Given the description of an element on the screen output the (x, y) to click on. 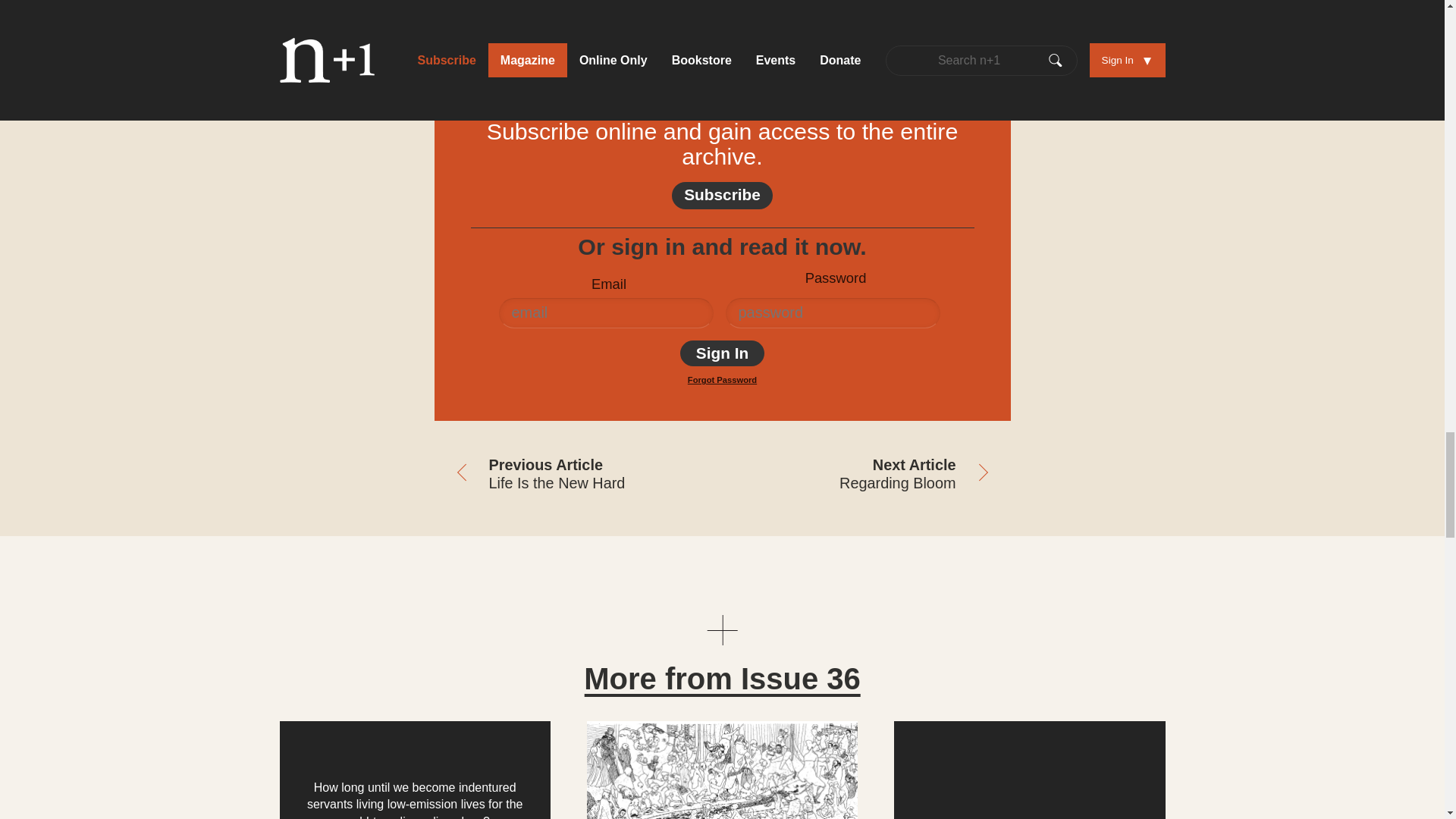
Sign In (721, 353)
Life Is the New Hard (577, 475)
Sign In (721, 353)
Subscribe (722, 195)
Regarding Bloom (866, 475)
Forgot Password (722, 379)
